Given the description of an element on the screen output the (x, y) to click on. 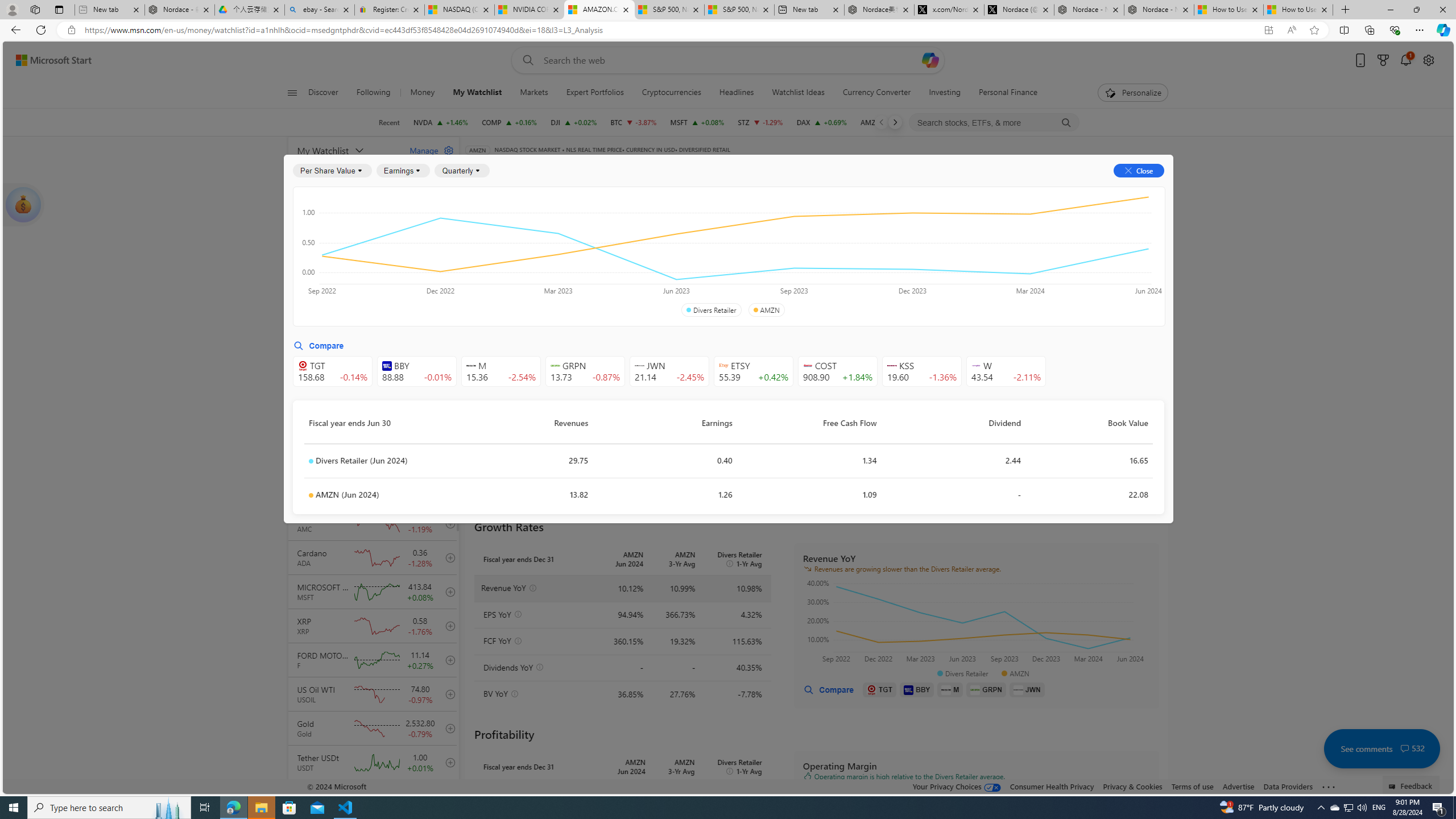
Money (422, 92)
AMZN AMAZON.COM, INC. decrease 173.12 -2.38 -1.36% (887, 122)
Your Privacy Choices (956, 785)
Nordace (@NordaceOfficial) / X (1018, 9)
See comments 532 (1381, 748)
Cryptocurrencies (670, 92)
Growth Rates (602, 253)
Headlines (736, 92)
Markets (533, 92)
Class: button-glyph (292, 92)
